Given the description of an element on the screen output the (x, y) to click on. 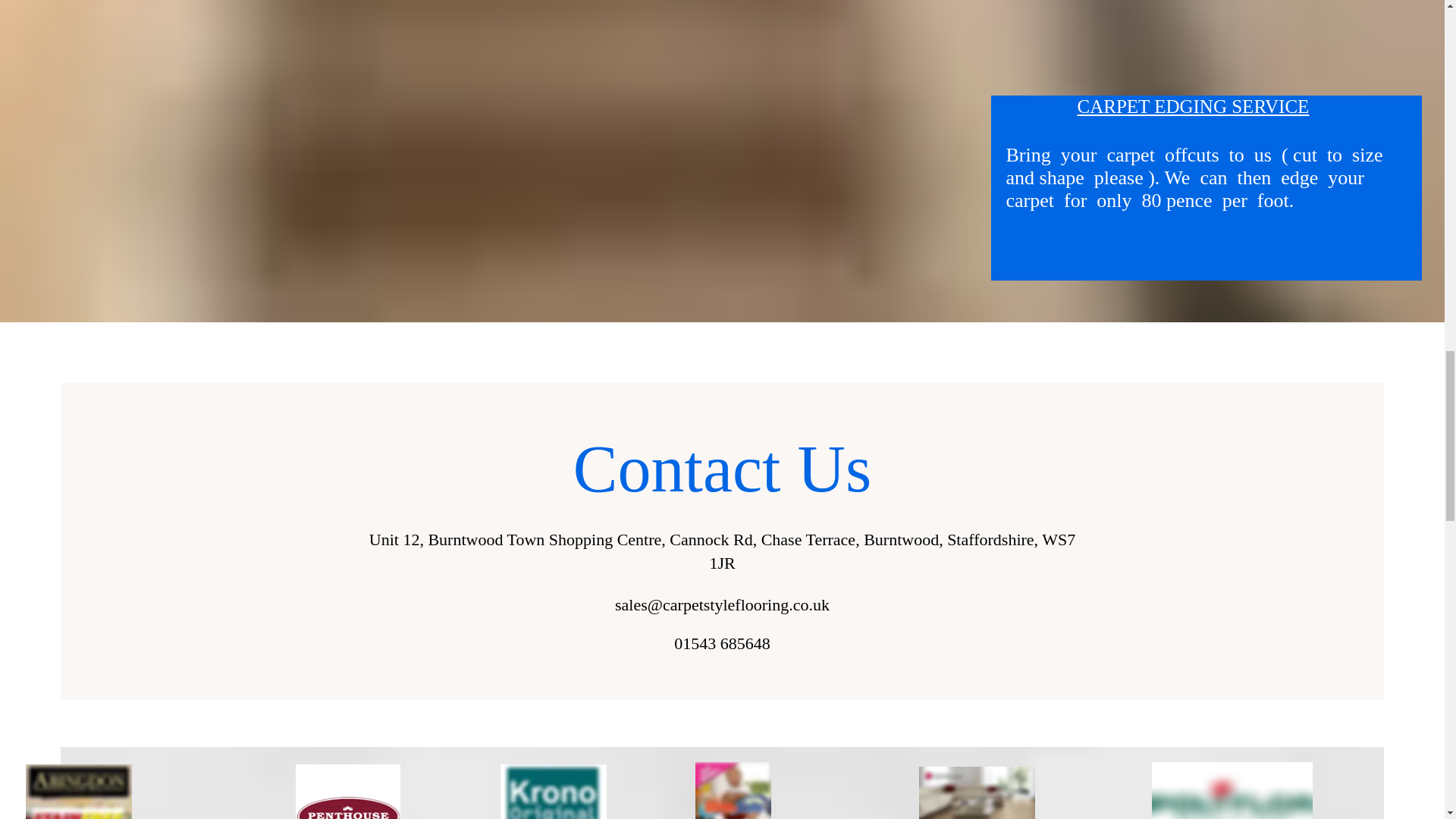
krono-original-logo.jpg (553, 791)
